Given the description of an element on the screen output the (x, y) to click on. 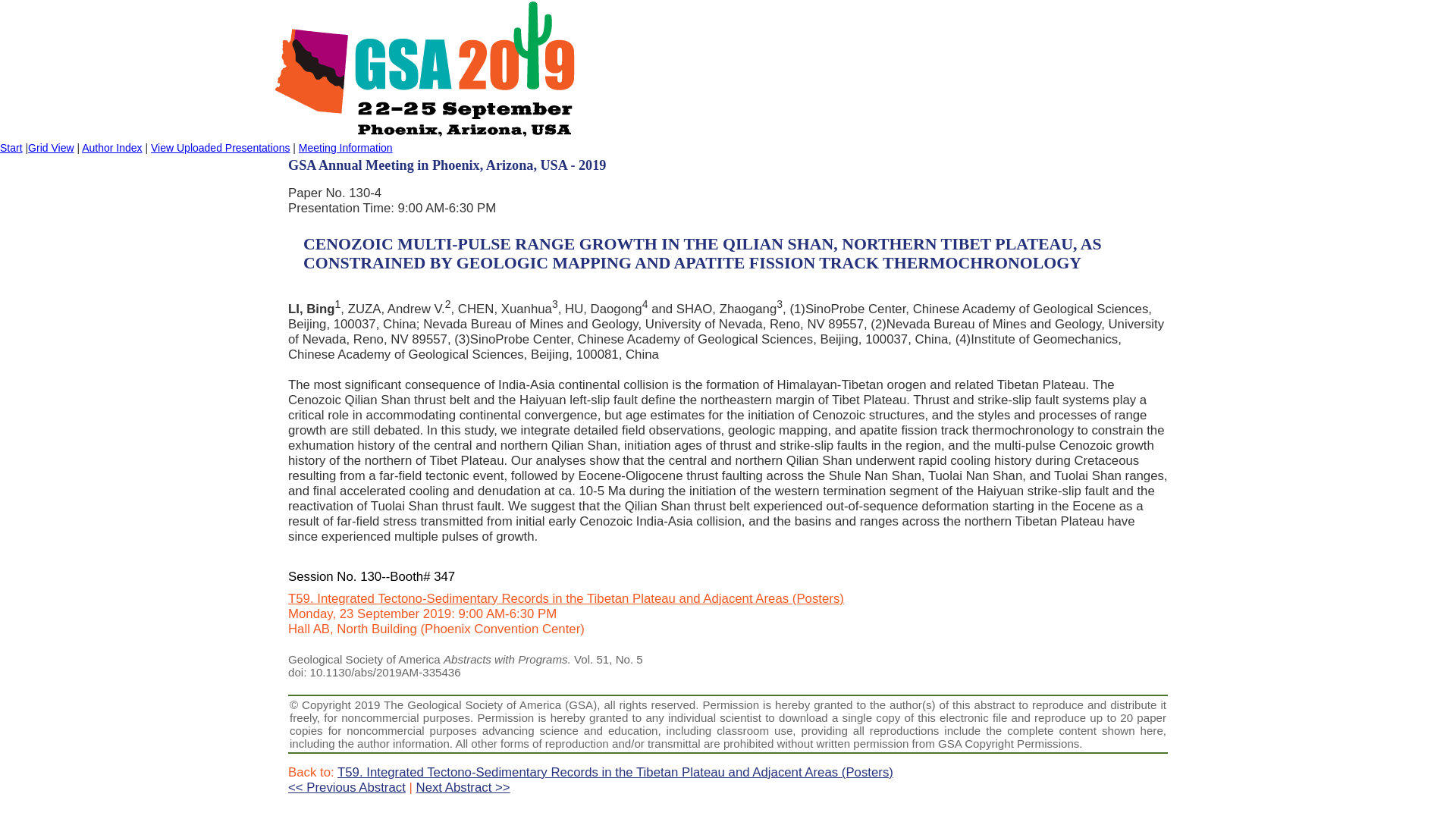
Meeting Information (345, 147)
Author Index (111, 147)
View Uploaded Presentations (220, 147)
Grid View (50, 147)
Start (11, 147)
